Given the description of an element on the screen output the (x, y) to click on. 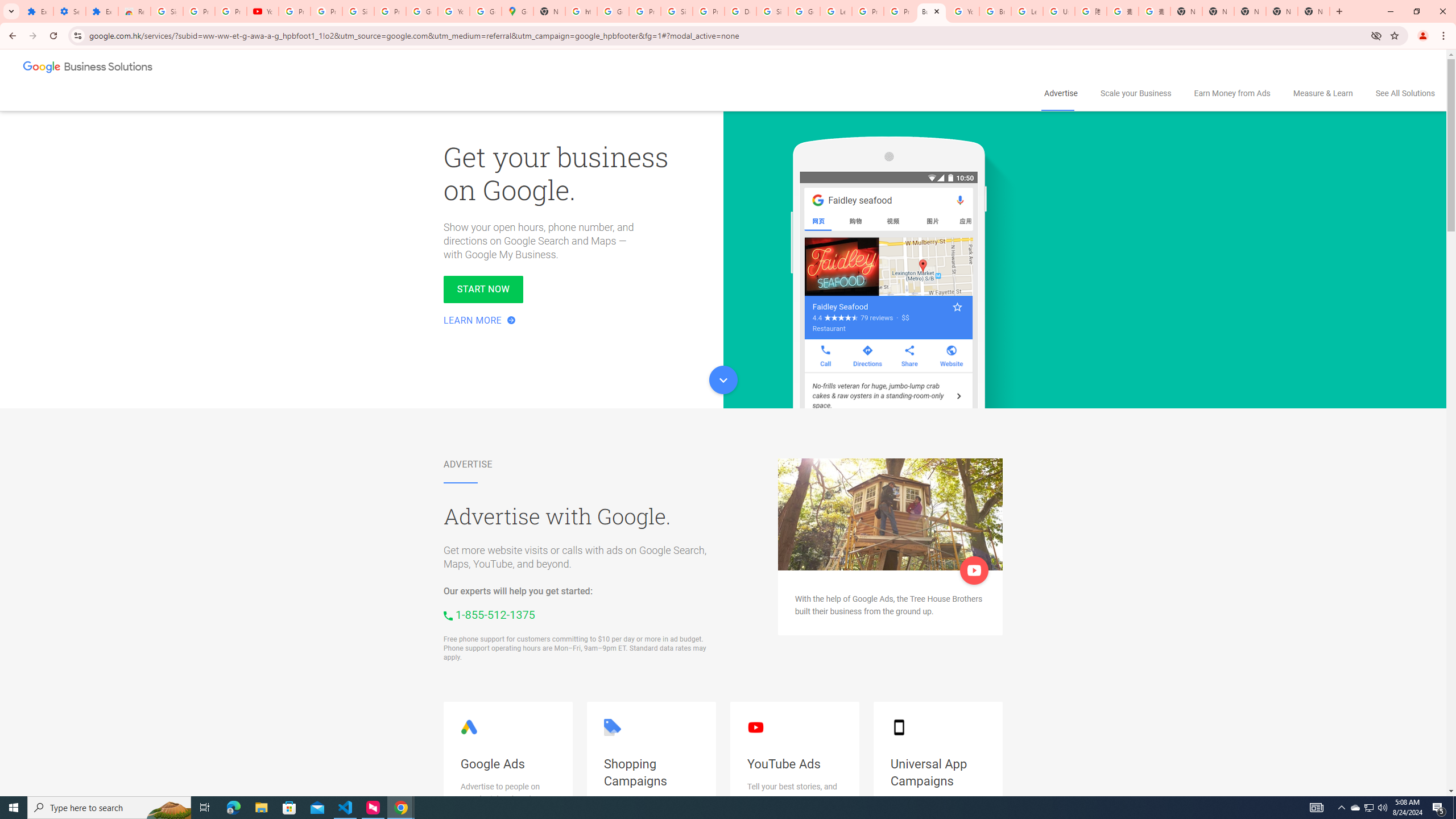
Advertise card (890, 514)
Earn Money from Ads (1232, 93)
Delete specific Google services or your Google Account (740, 11)
Scale your Business (1135, 93)
Google Business Solutions (88, 68)
Google Shopping logo (611, 727)
